Given the description of an element on the screen output the (x, y) to click on. 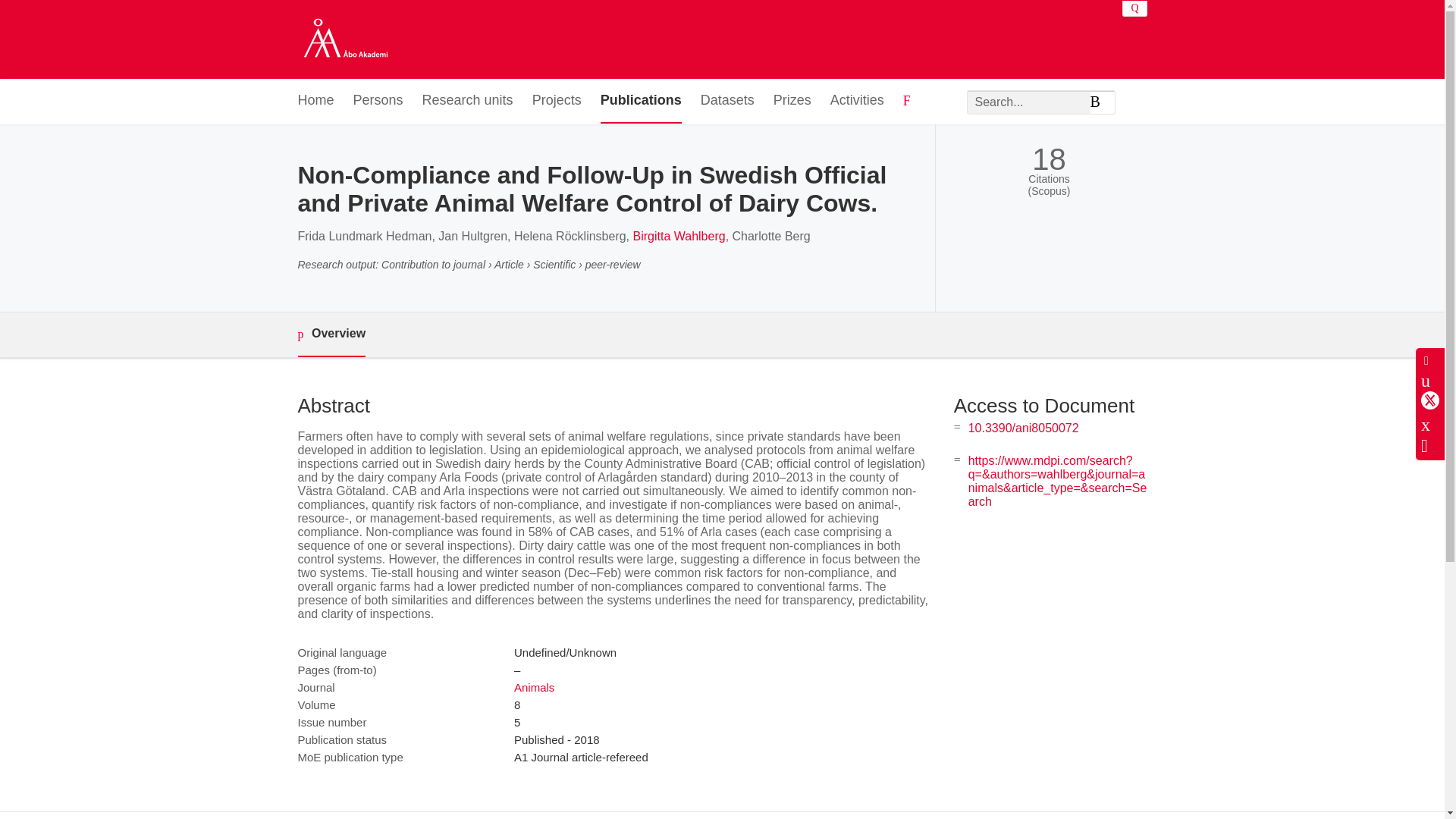
Birgitta Wahlberg (678, 236)
Research units (467, 100)
Publications (640, 100)
Persons (378, 100)
Activities (856, 100)
Overview (331, 334)
Datasets (727, 100)
Animals (533, 686)
Projects (556, 100)
